Given the description of an element on the screen output the (x, y) to click on. 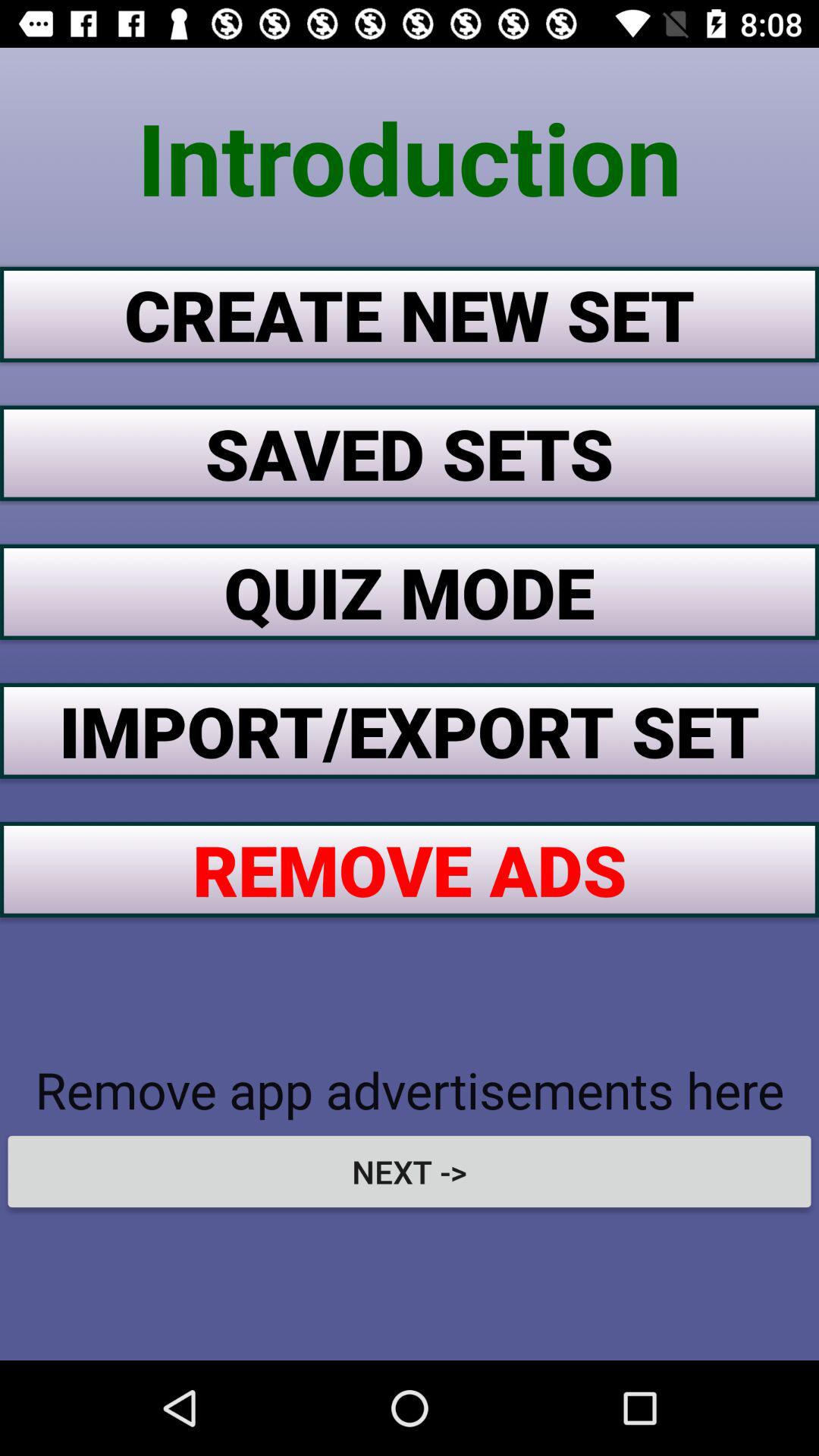
flip until quiz mode (409, 591)
